Given the description of an element on the screen output the (x, y) to click on. 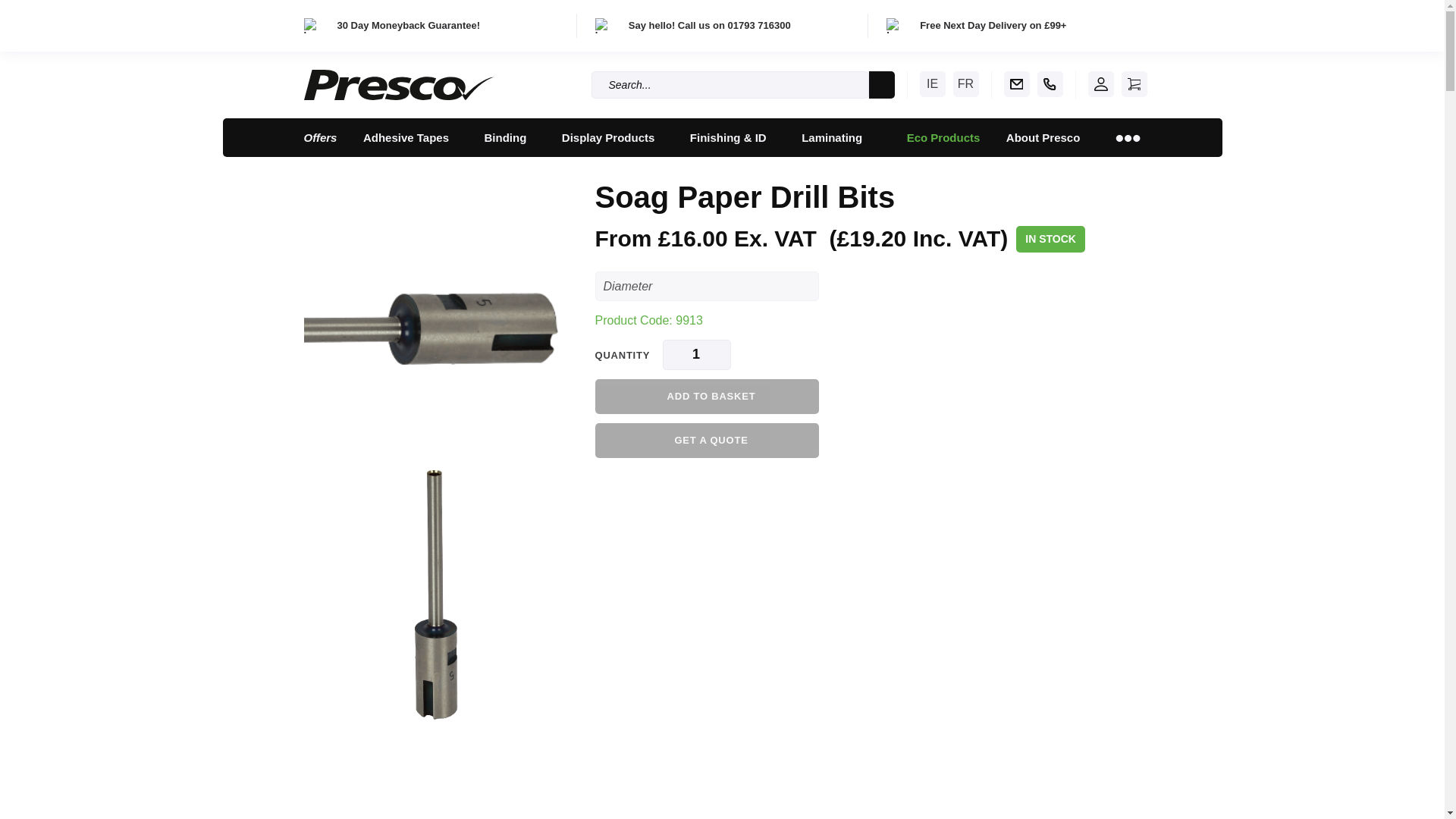
FR (965, 84)
Search... (730, 84)
Offers (320, 137)
Search (882, 84)
Binding (509, 137)
Search (882, 84)
Display Products (612, 137)
Adhesive Tapes (410, 137)
IE (931, 84)
1 (696, 354)
